Given the description of an element on the screen output the (x, y) to click on. 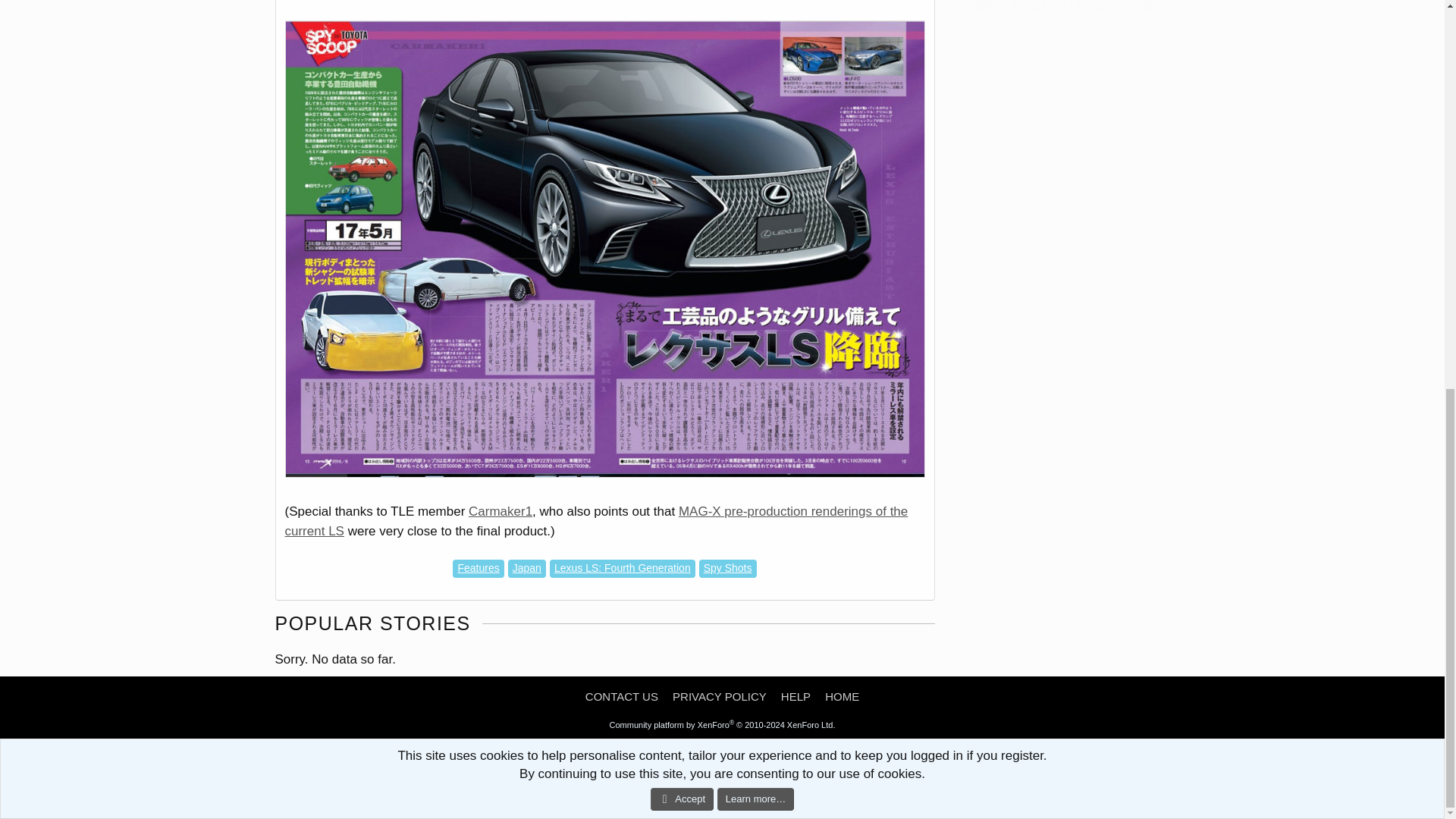
Carmaker1 (500, 511)
Lexus LS: Fourth Generation (622, 568)
Japan (527, 568)
MAG-X pre-production renderings of the current LS (596, 521)
3rd party ad content (1058, 5)
Features (477, 568)
